Given the description of an element on the screen output the (x, y) to click on. 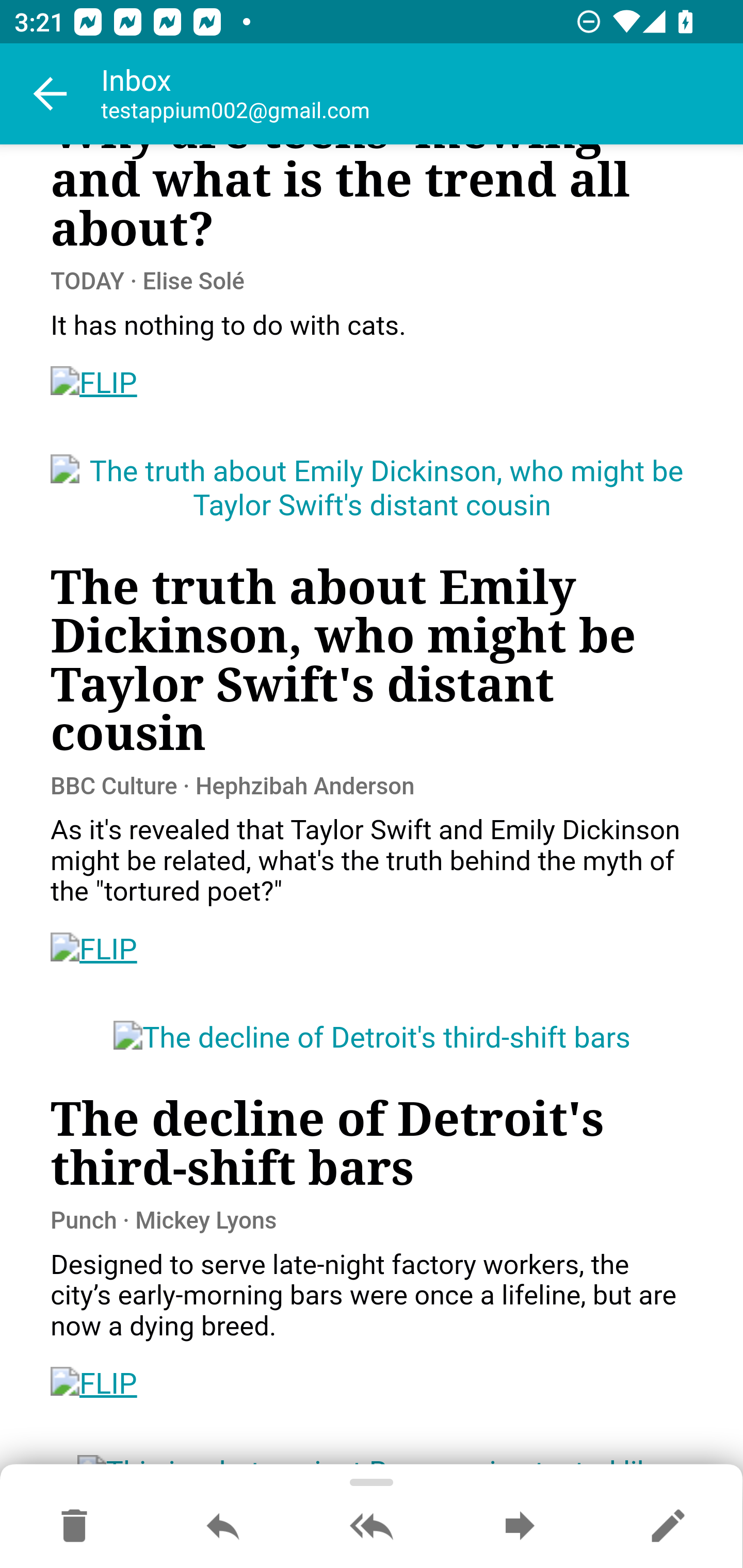
Navigate up (50, 93)
Inbox testappium002@gmail.com (422, 93)
FLIP (93, 384)
FLIP (93, 949)
FLIP (93, 1383)
Move to Deleted (74, 1527)
Reply (222, 1527)
Reply all (371, 1527)
Forward (519, 1527)
Reply as new (667, 1527)
